Given the description of an element on the screen output the (x, y) to click on. 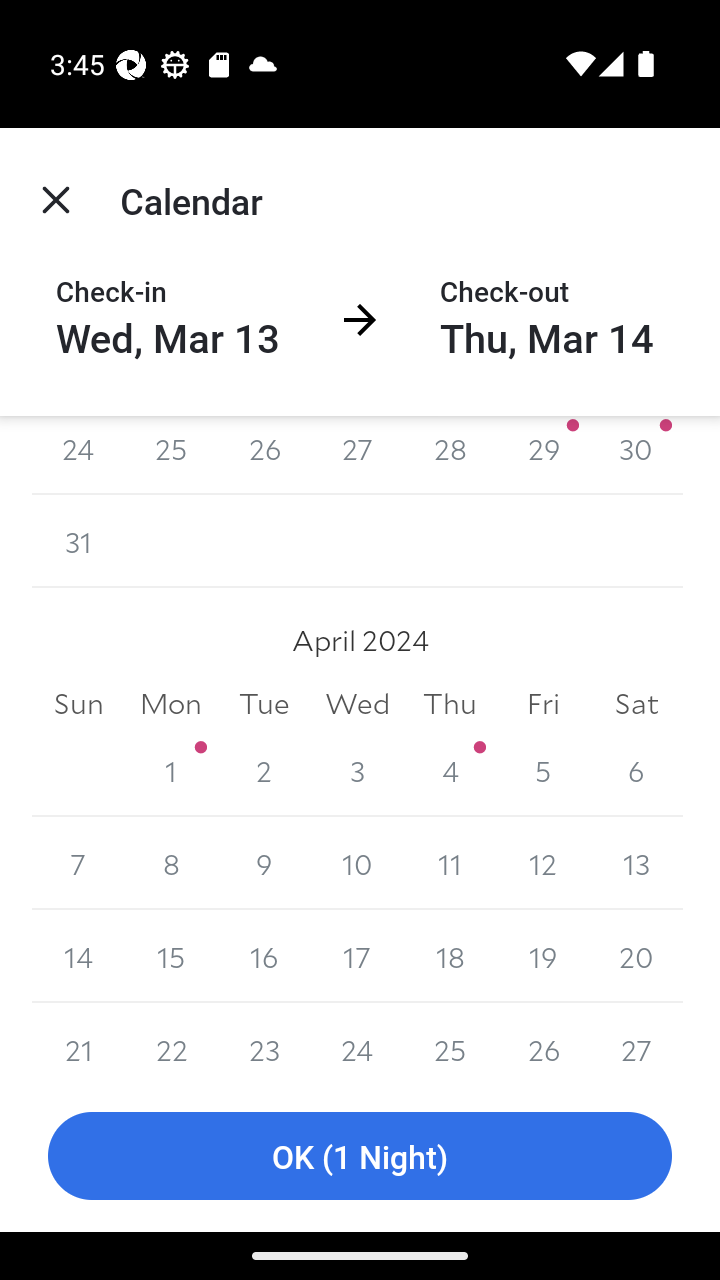
24 24 March 2024 (78, 455)
25 25 March 2024 (171, 455)
26 26 March 2024 (264, 455)
27 27 March 2024 (357, 455)
28 28 March 2024 (449, 455)
29 29 March 2024 (542, 455)
30 30 March 2024 (636, 455)
31 31 March 2024 (78, 541)
Sun (78, 703)
Mon (171, 703)
Tue (264, 703)
Wed (357, 703)
Thu (449, 703)
Fri (542, 703)
Sat (636, 703)
31 31 April 2024 (78, 770)
1 1 April 2024 (171, 770)
2 2 April 2024 (264, 770)
3 3 April 2024 (357, 770)
4 4 April 2024 (449, 770)
5 5 April 2024 (542, 770)
6 6 April 2024 (636, 770)
7 7 April 2024 (78, 863)
8 8 April 2024 (171, 863)
9 9 April 2024 (264, 863)
10 10 April 2024 (357, 863)
11 11 April 2024 (449, 863)
12 12 April 2024 (542, 863)
13 13 April 2024 (636, 863)
14 14 April 2024 (78, 956)
15 15 April 2024 (171, 956)
16 16 April 2024 (264, 956)
17 17 April 2024 (357, 956)
18 18 April 2024 (449, 956)
19 19 April 2024 (542, 956)
20 20 April 2024 (636, 956)
21 21 April 2024 (78, 1041)
22 22 April 2024 (171, 1041)
23 23 April 2024 (264, 1041)
24 24 April 2024 (357, 1041)
25 25 April 2024 (449, 1041)
26 26 April 2024 (542, 1041)
27 27 April 2024 (636, 1041)
OK (1 Night) (359, 1156)
